Given the description of an element on the screen output the (x, y) to click on. 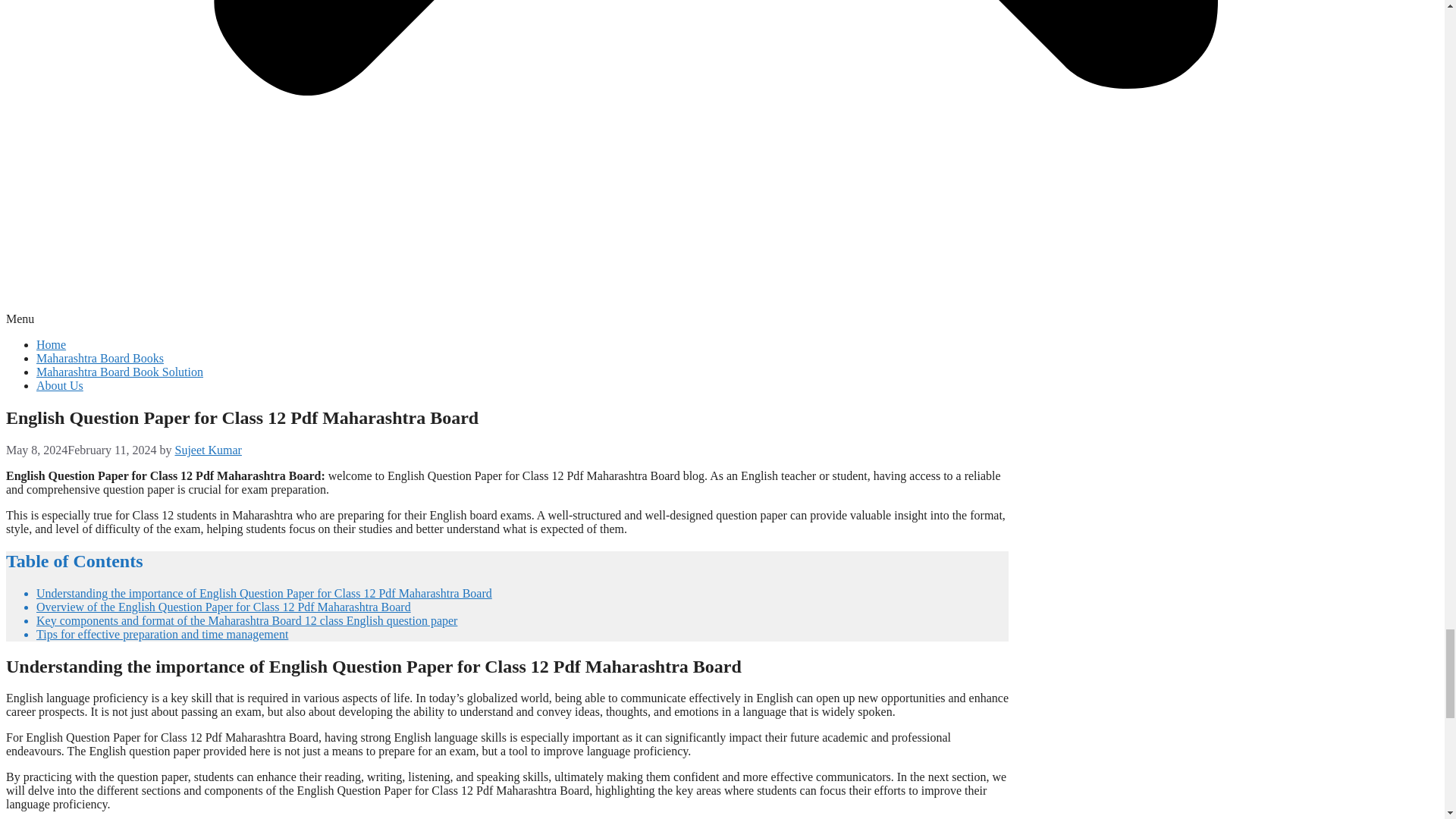
Maharashtra Board Book Solution (119, 371)
Tips for effective preparation and time management (162, 634)
View all posts by Sujeet Kumar (207, 449)
Home (50, 344)
Sujeet Kumar (207, 449)
About Us (59, 385)
Maharashtra Board Books (99, 358)
